Given the description of an element on the screen output the (x, y) to click on. 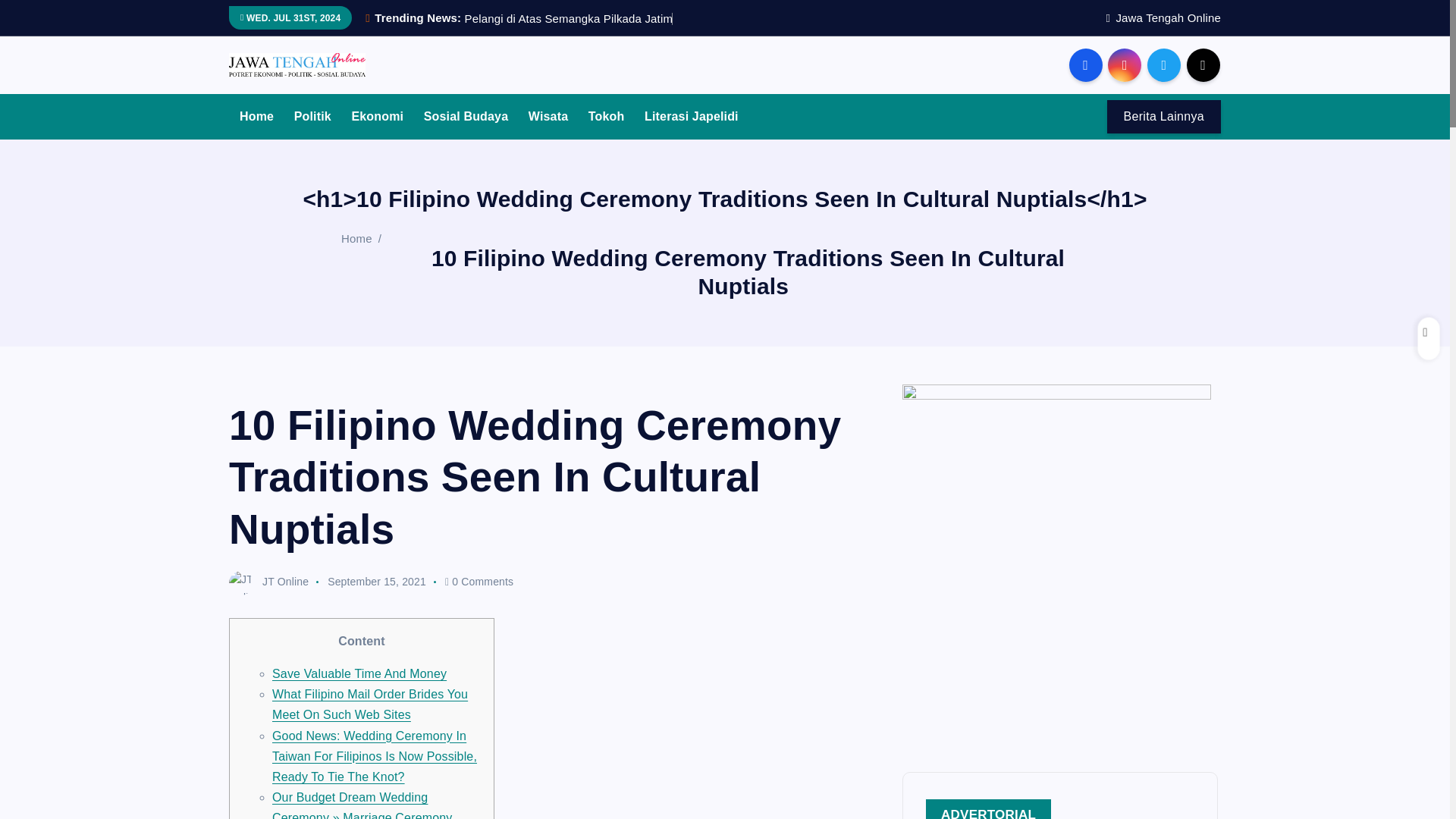
Tokoh (606, 116)
Politik (312, 116)
Sosial Budaya (465, 116)
Home (356, 237)
Tokoh (606, 116)
Ekonomi (377, 116)
Home (256, 116)
What Filipino Mail Order Brides You Meet On Such Web Sites (369, 704)
Ekonomi (377, 116)
JT Online (268, 581)
Wisata (547, 116)
Wisata (547, 116)
Home (256, 116)
